Given the description of an element on the screen output the (x, y) to click on. 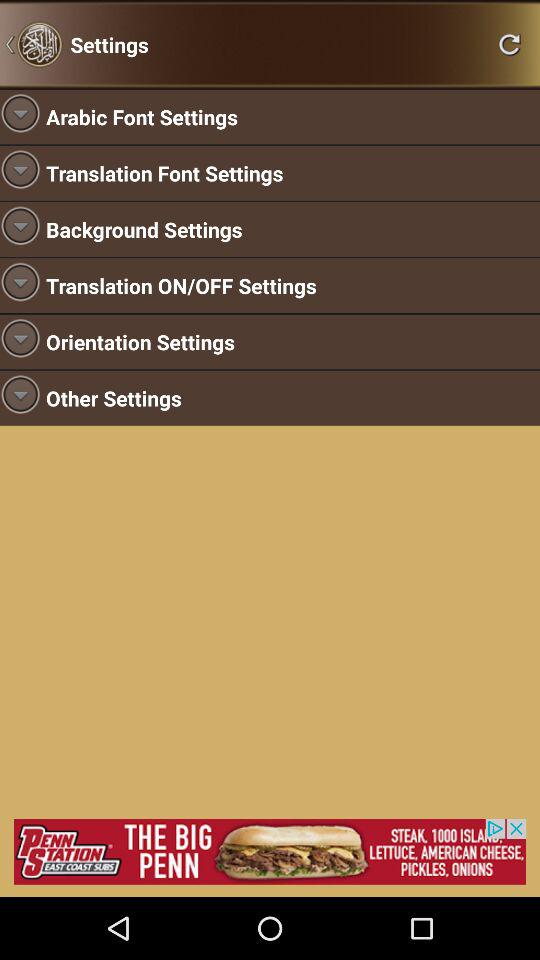
refresh page (509, 44)
